Given the description of an element on the screen output the (x, y) to click on. 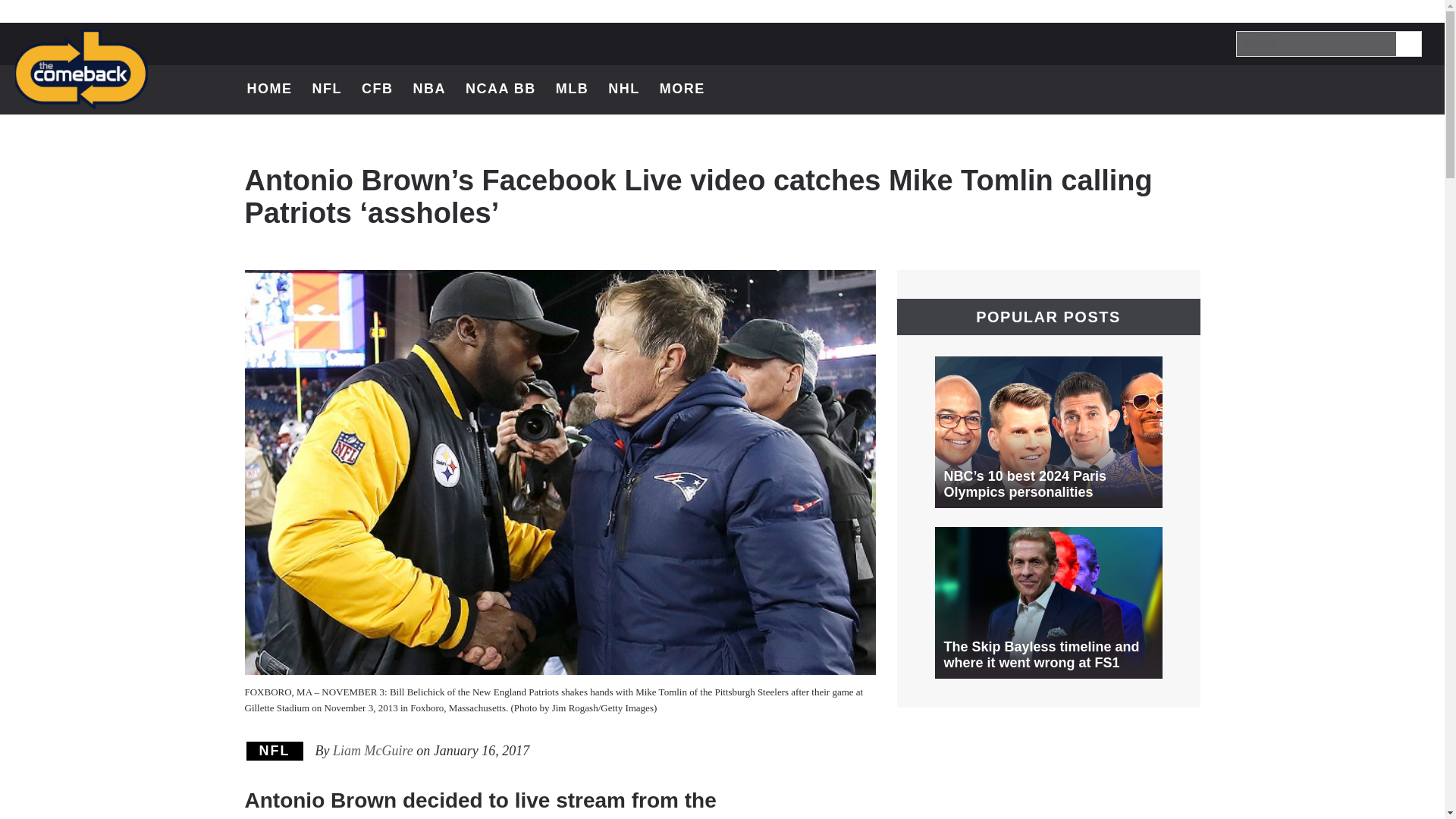
NCAA BB (1375, 89)
Link to Twitter (500, 89)
NHL (1296, 89)
Link to Facebook (624, 89)
View all posts in NFL (1336, 89)
NBA (274, 751)
MLB (428, 89)
MORE (1336, 89)
